Given the description of an element on the screen output the (x, y) to click on. 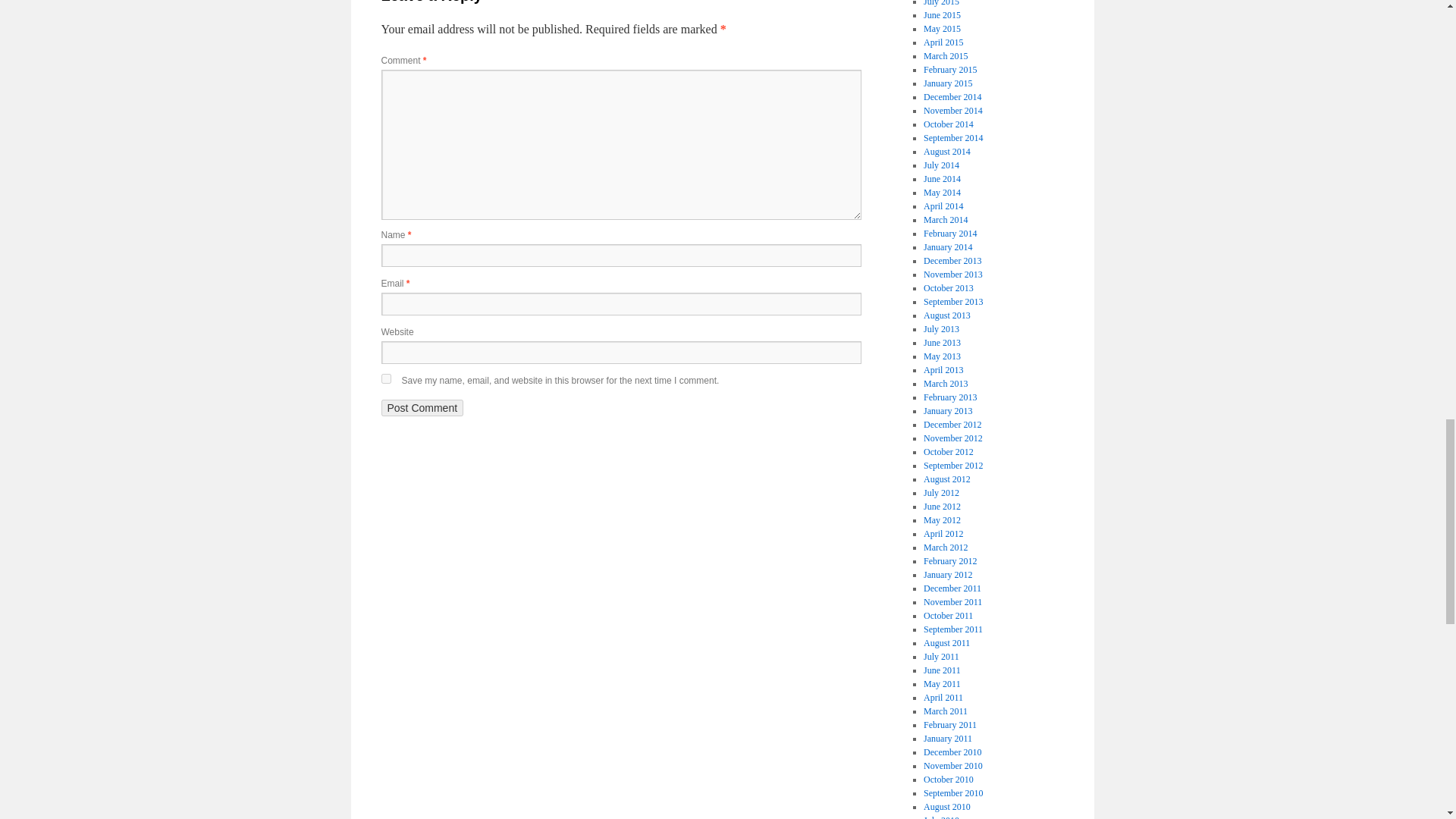
yes (385, 378)
Post Comment (421, 407)
Post Comment (421, 407)
